Given the description of an element on the screen output the (x, y) to click on. 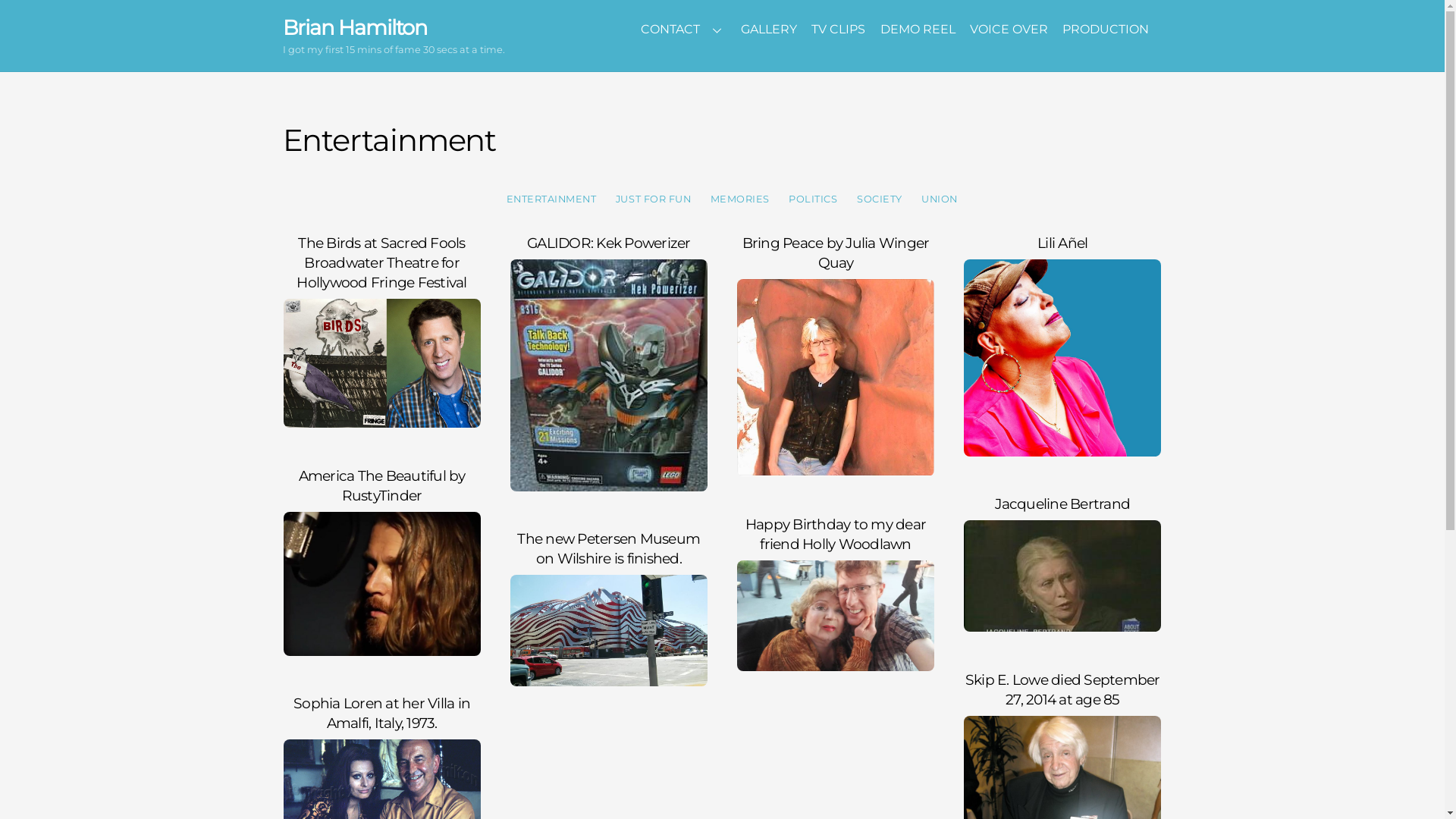
Bring Peace by Julia Winger Quay Element type: hover (835, 377)
GALIDOR: Kek Powerizer Element type: text (608, 242)
Skip E. Lowe died September 27, 2014 at age 85 Element type: text (1062, 689)
America The Beautiful by RustyTinder Element type: hover (381, 583)
Jacqueline Bertrand Element type: hover (1062, 576)
DEMO REEL Element type: text (917, 29)
SOCIETY Element type: text (879, 199)
Jacqueline Bertrand Element type: text (1061, 503)
TV CLIPS Element type: text (838, 29)
UNION Element type: text (939, 199)
The new Petersen Museum on Wilshire is finished. Element type: text (608, 548)
Sophia Loren at her Villa in Amalfi, Italy, 1973. Element type: text (381, 712)
MEMORIES Element type: text (739, 199)
America The Beautiful by RustyTinder Element type: text (381, 485)
Happy Birthday to my dear friend Holly Woodlawn Element type: text (835, 533)
Bring Peace by Julia Winger Quay Element type: text (835, 252)
CONTACT Element type: text (683, 29)
GALLERY Element type: text (769, 29)
Brian Hamilton Element type: text (354, 27)
ENTERTAINMENT Element type: text (550, 199)
POLITICS Element type: text (813, 199)
GALIDOR: Kek Powerizer Element type: hover (608, 375)
PRODUCTION Element type: text (1104, 29)
JUST FOR FUN Element type: text (652, 199)
VOICE OVER Element type: text (1008, 29)
